Given the description of an element on the screen output the (x, y) to click on. 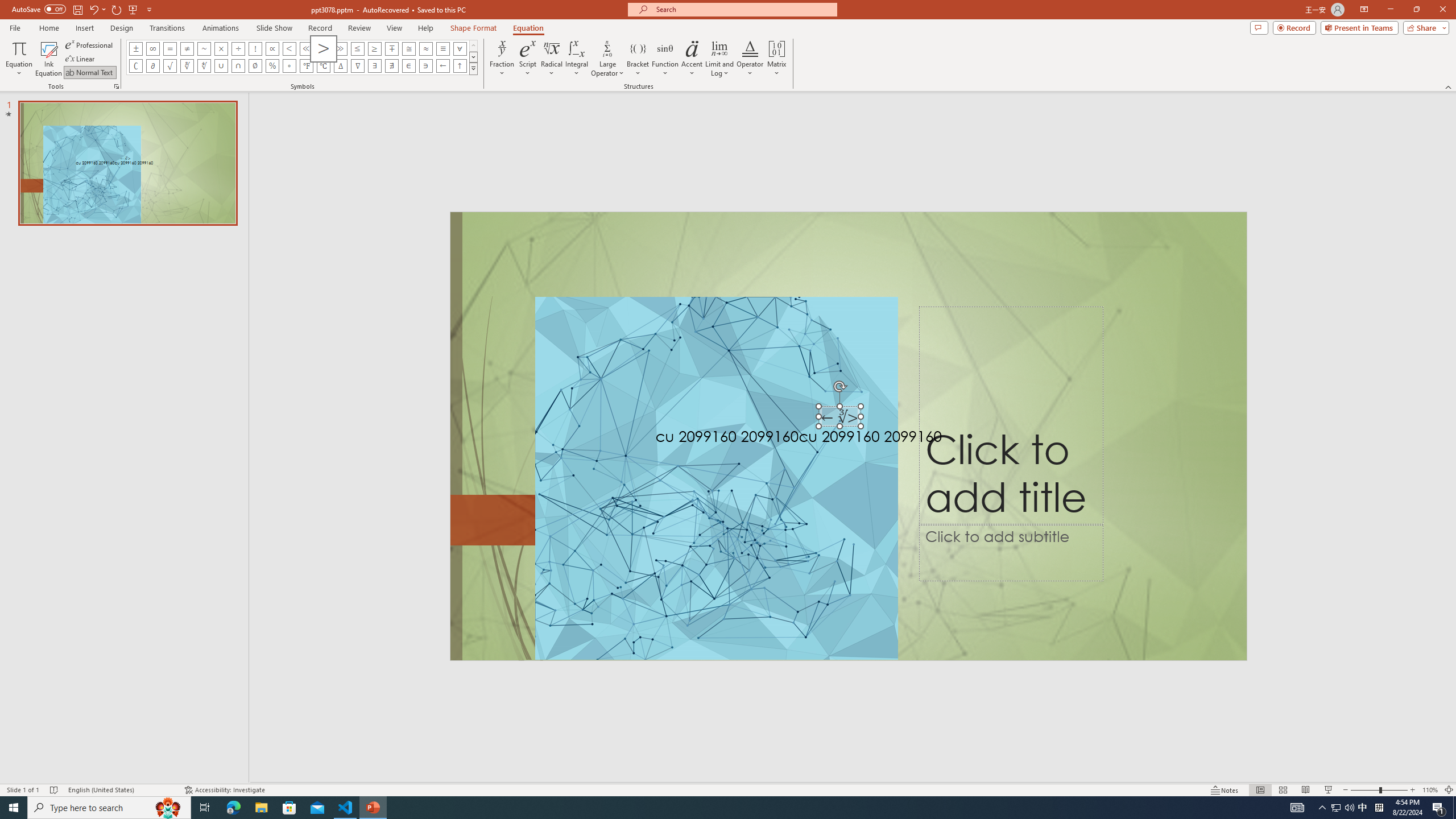
Function (664, 58)
Equation Symbol Element Of (408, 65)
Radical (552, 58)
Operator (749, 58)
Equation Symbol Proportional To (272, 48)
Equation Symbol Fourth Root (203, 65)
